Given the description of an element on the screen output the (x, y) to click on. 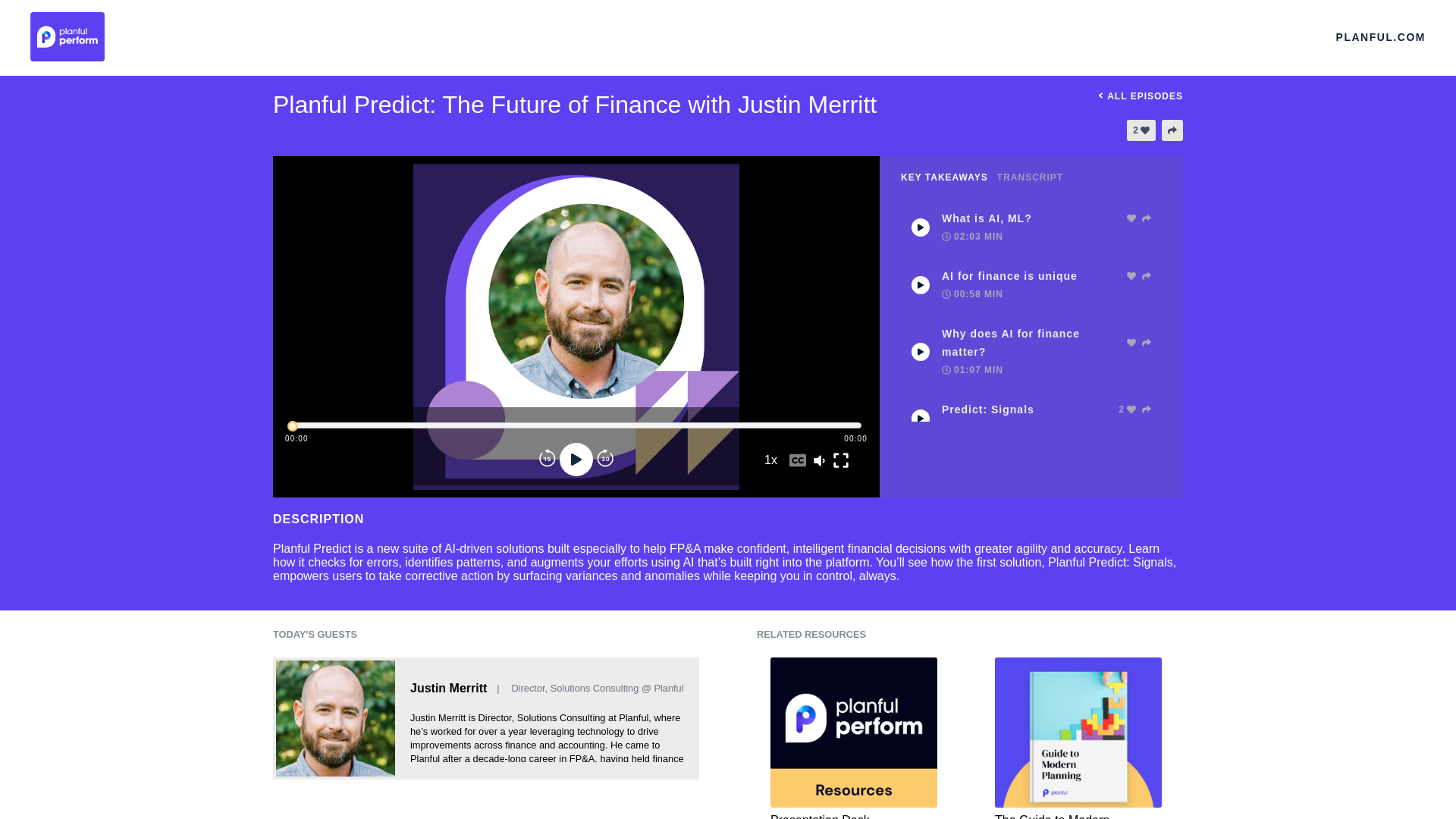
Presentation Deck (853, 738)
Planful.com (1380, 36)
The Guide to Modern Planning (1077, 738)
Planful (373, 36)
The Guide to Modern Planning (1077, 738)
PLANFUL.COM (1380, 36)
Presentation Deck (853, 738)
ALL EPISODES (1138, 95)
